Given the description of an element on the screen output the (x, y) to click on. 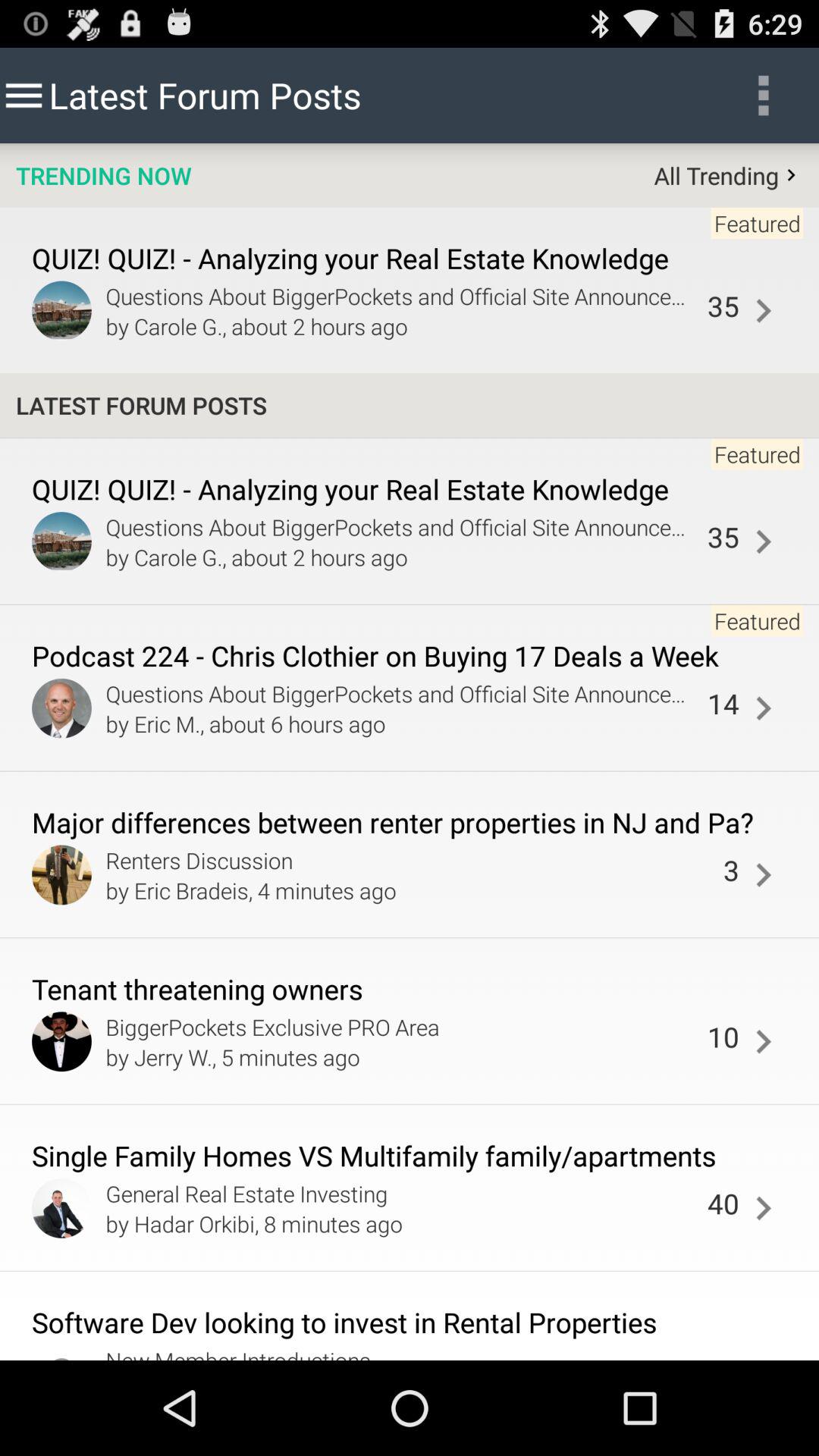
choose the item to the right of renters discussion app (731, 869)
